Given the description of an element on the screen output the (x, y) to click on. 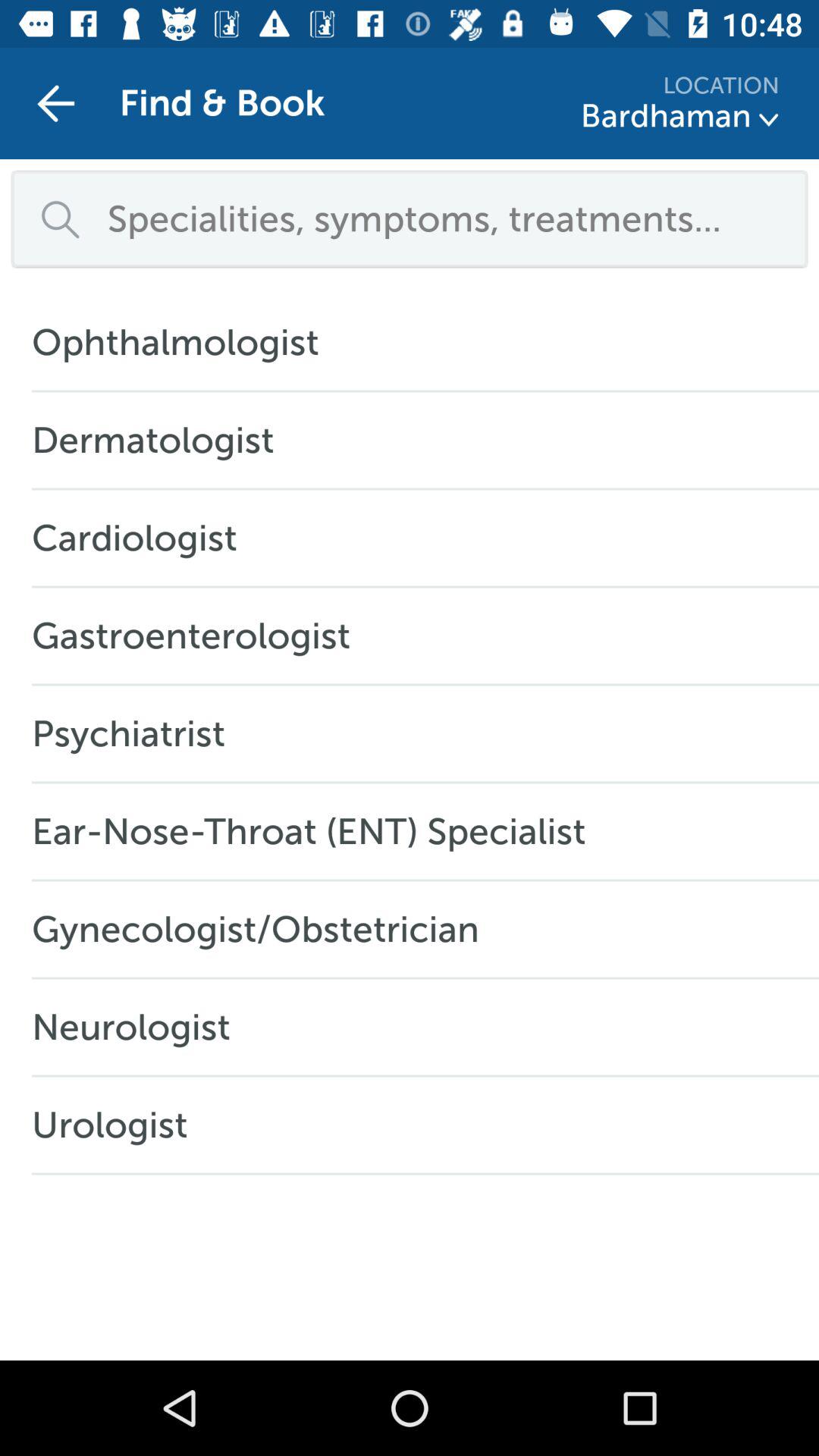
search (447, 218)
